Given the description of an element on the screen output the (x, y) to click on. 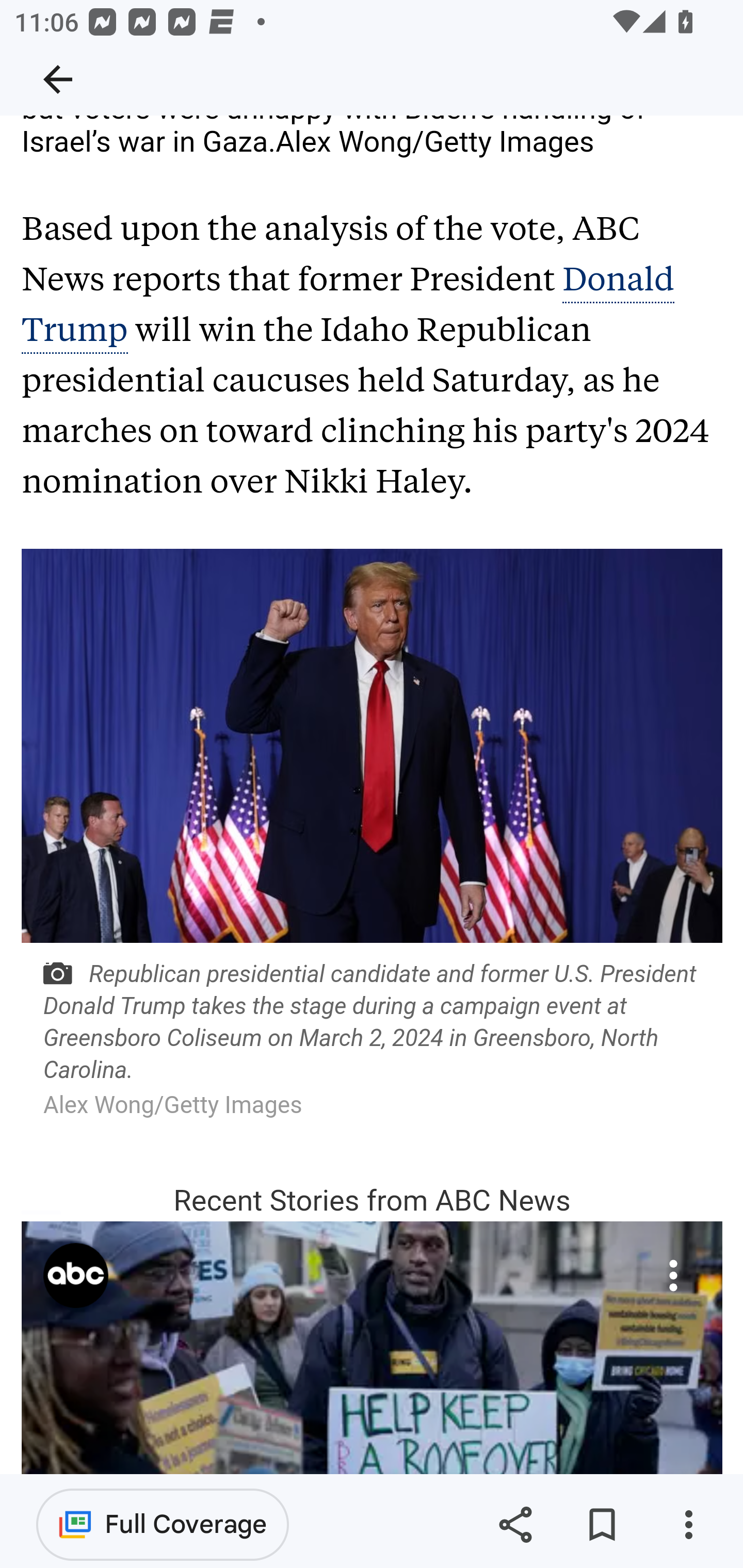
Navigate up (57, 79)
Donald Trump (348, 305)
More (673, 1276)
Share (514, 1524)
Save for later (601, 1524)
More options (688, 1524)
Full Coverage (162, 1524)
